Given the description of an element on the screen output the (x, y) to click on. 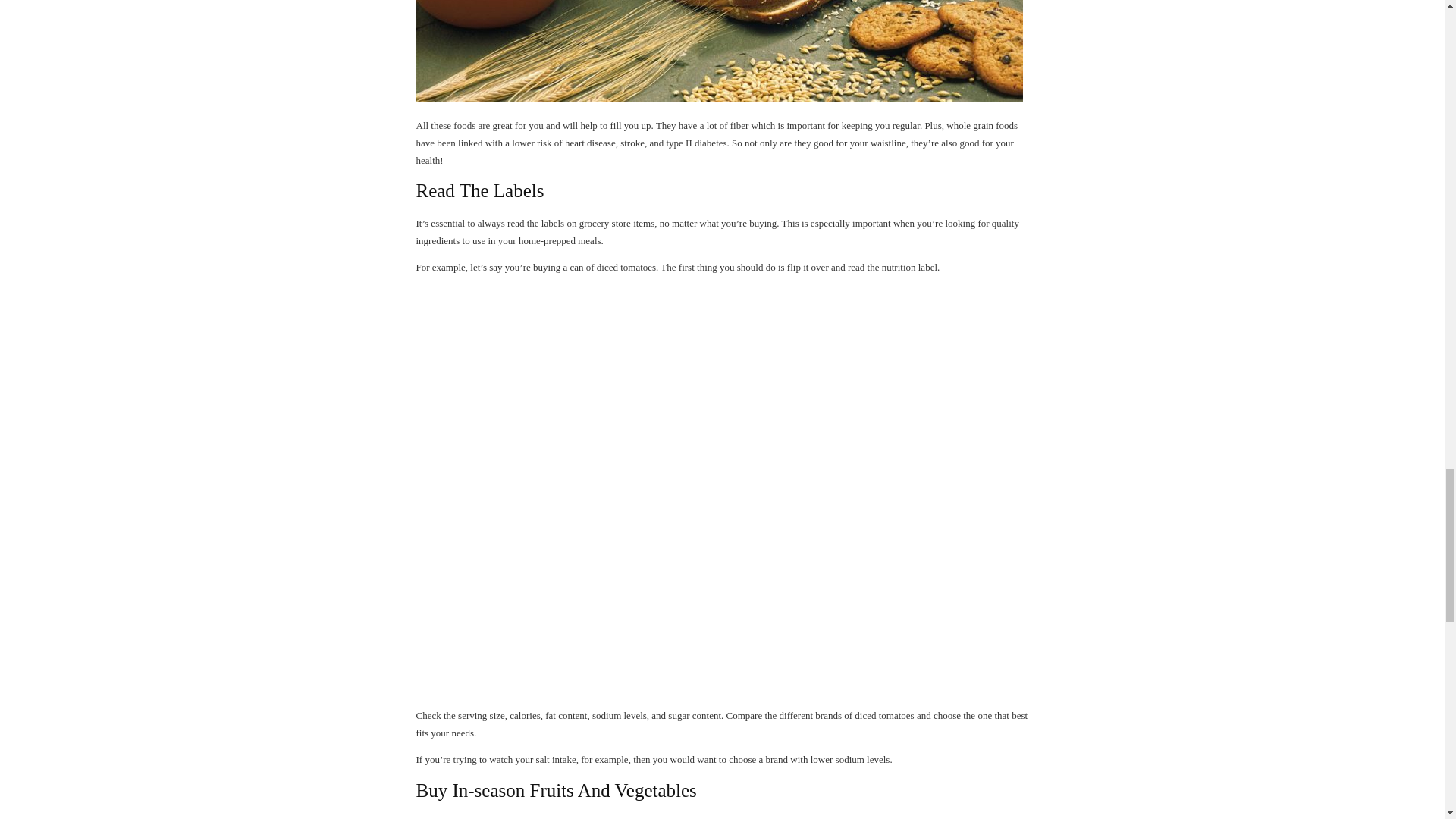
while they are in their natural season (609, 818)
How To Find Quality Groceries For Your Home-Prepped Meals (718, 50)
